Given the description of an element on the screen output the (x, y) to click on. 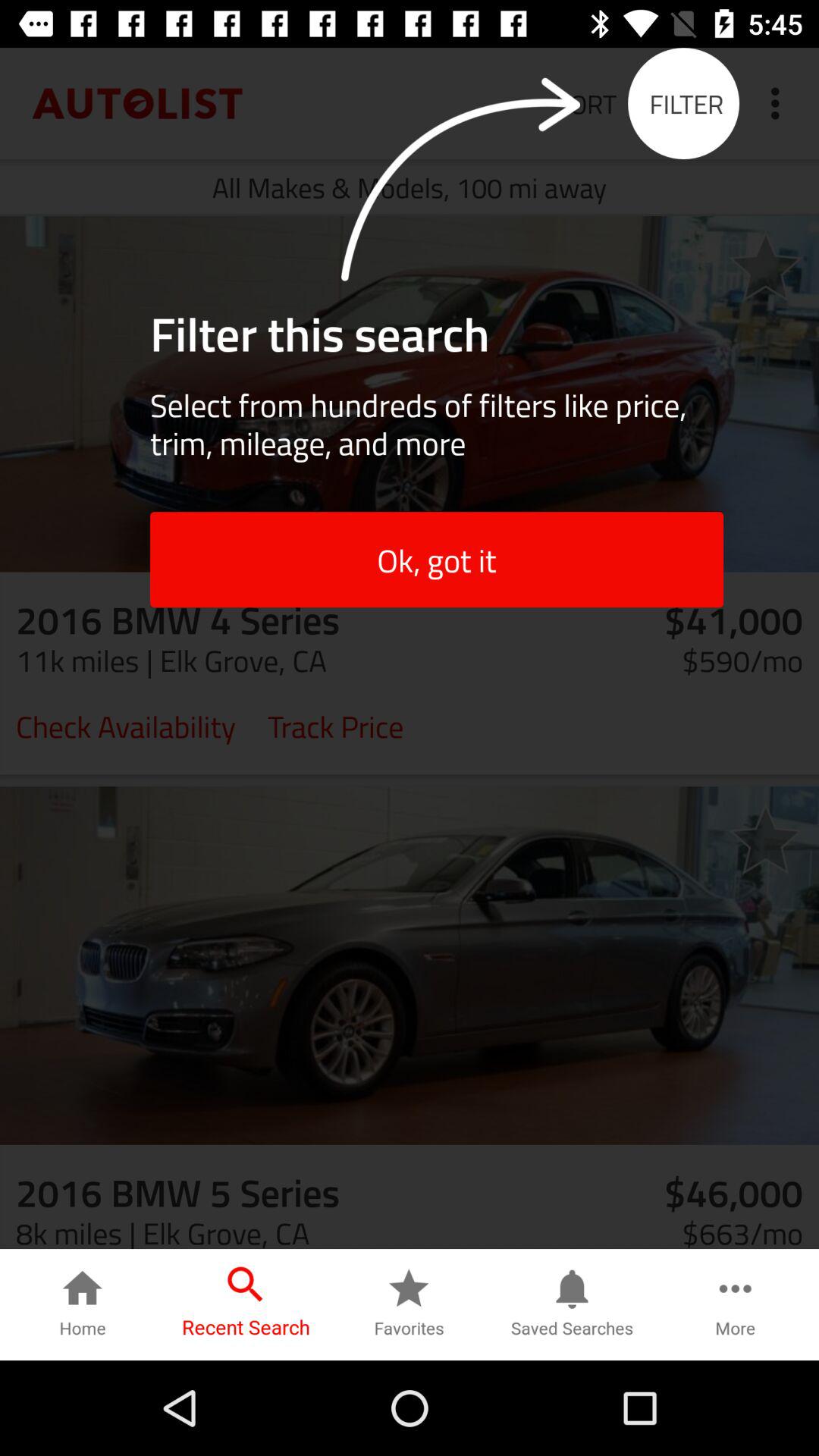
press the item next to the track price (125, 725)
